Given the description of an element on the screen output the (x, y) to click on. 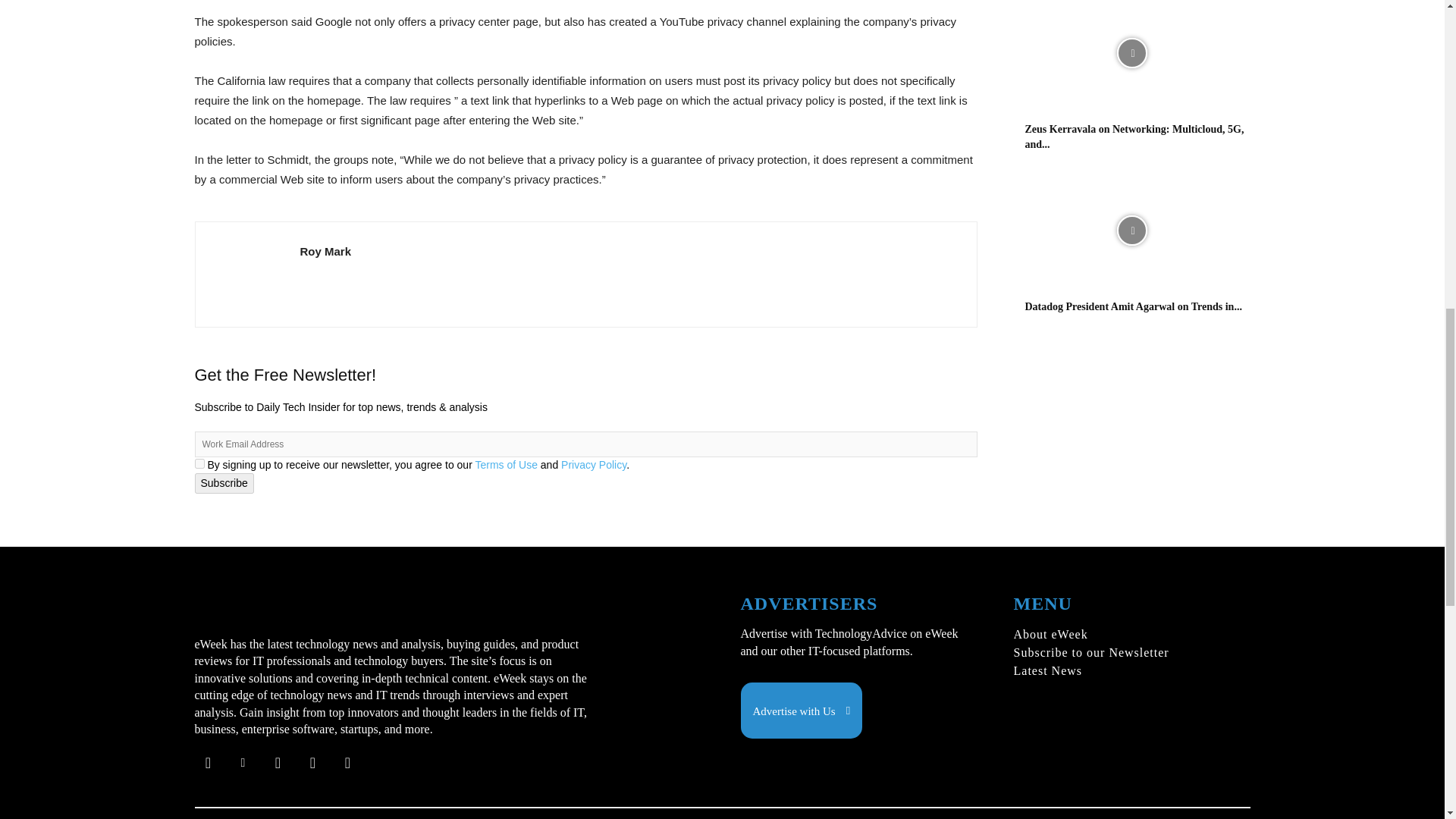
on (198, 463)
Zeus Kerravala on Networking: Multicloud, 5G, and Automation (1134, 136)
Zeus Kerravala on Networking: Multicloud, 5G, and Automation (1131, 56)
